Given the description of an element on the screen output the (x, y) to click on. 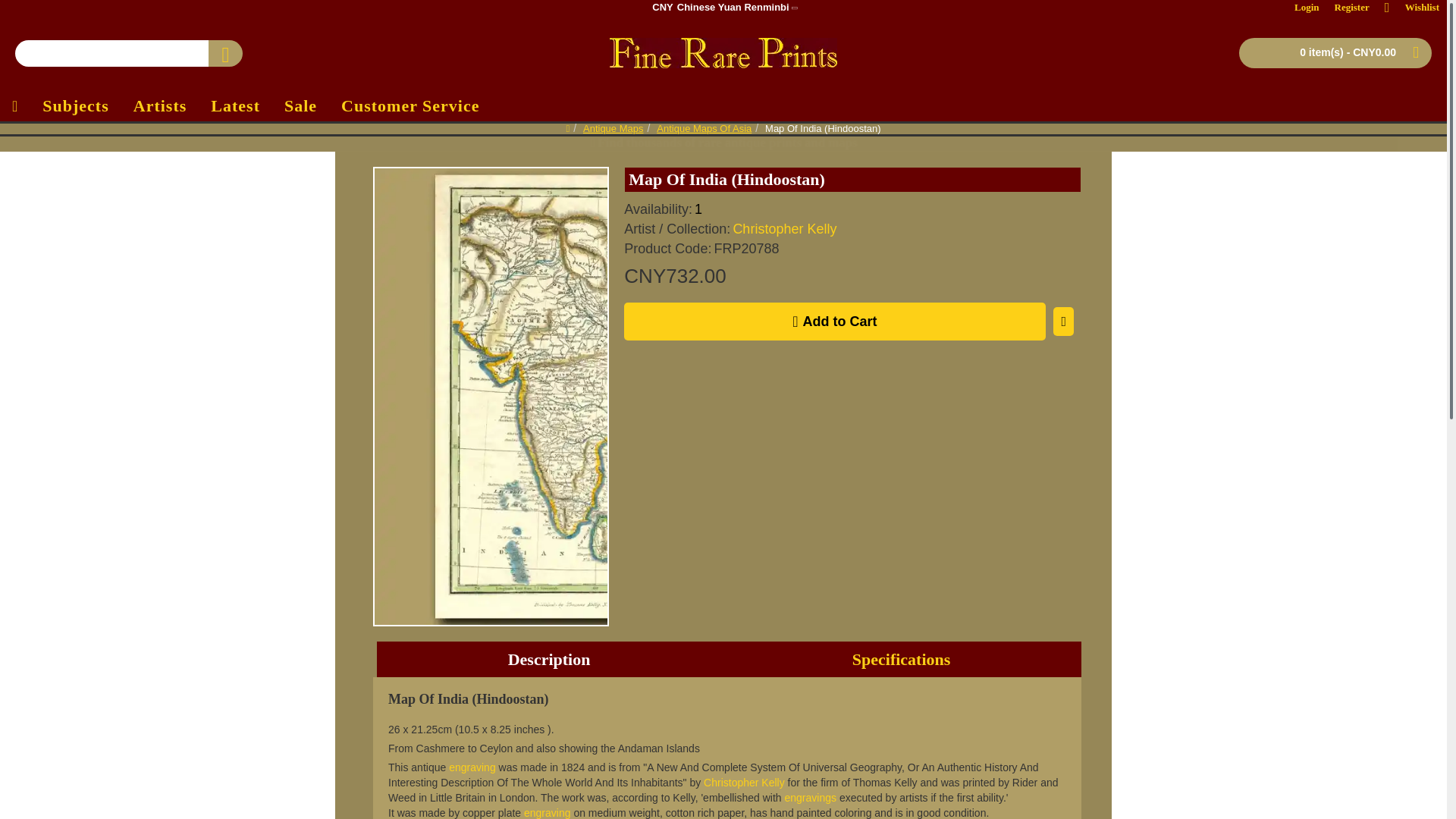
Wishlist (1412, 7)
Subjects (75, 105)
Login (1306, 7)
Fine Rare Prints. Antique Prints and Maps (720, 7)
Register (723, 52)
